Given the description of an element on the screen output the (x, y) to click on. 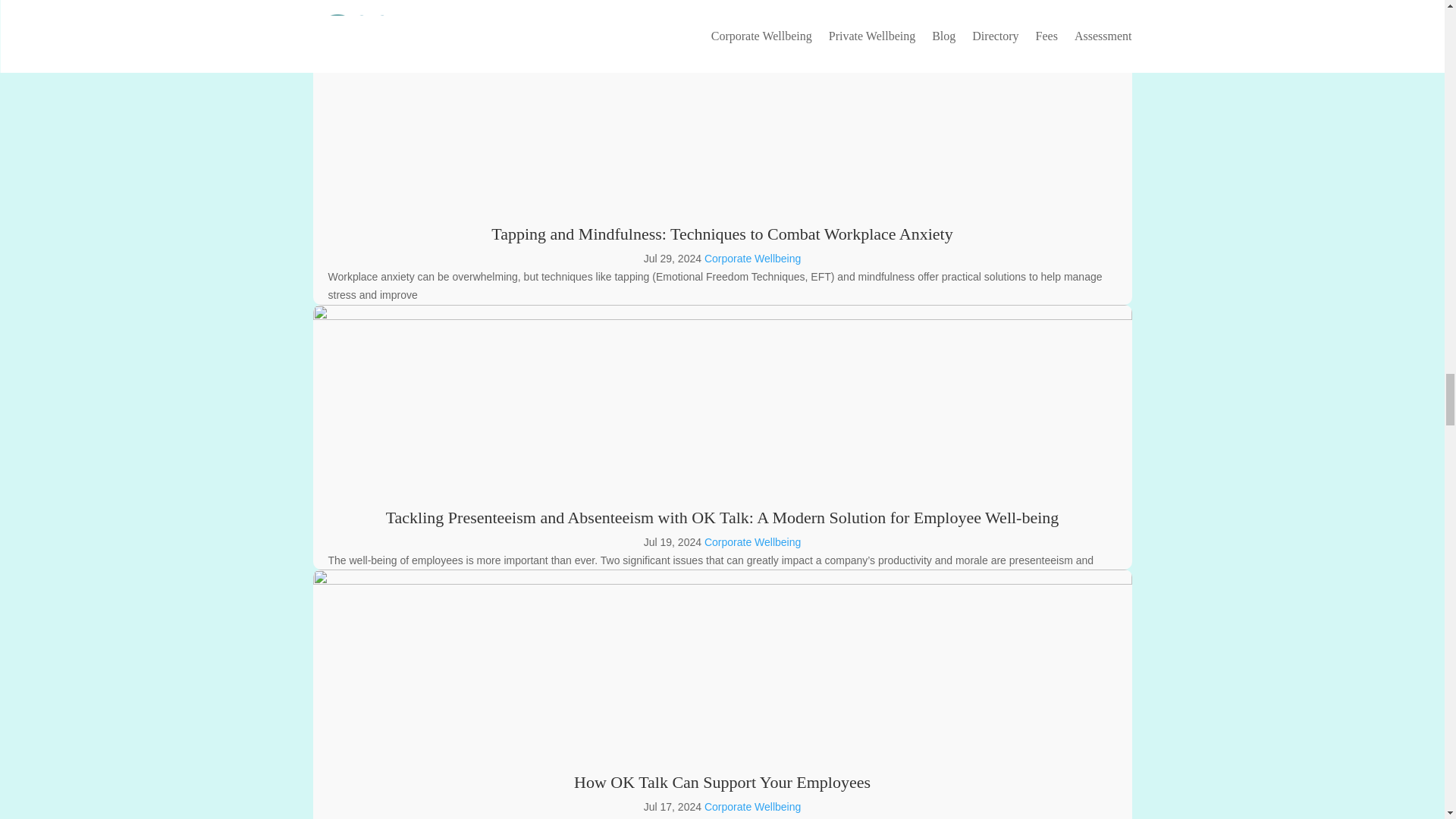
Corporate Wellbeing (752, 541)
How OK Talk Can Support Your Employees (721, 782)
How OK Talk Can Support Your Employees (721, 782)
Corporate Wellbeing (752, 806)
Corporate Wellbeing (752, 258)
